Given the description of an element on the screen output the (x, y) to click on. 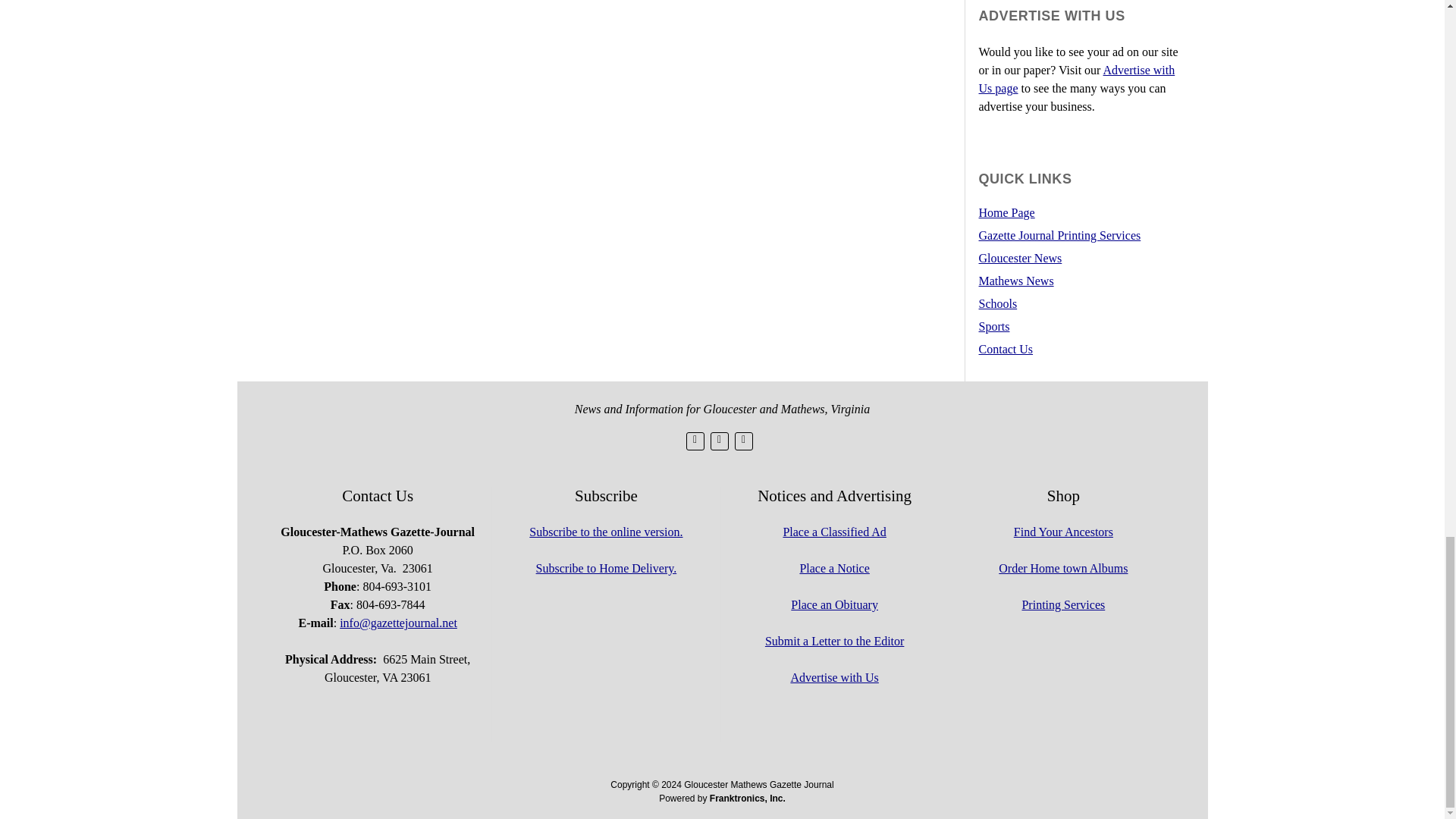
instagram (743, 439)
instagram (742, 441)
twitter (694, 441)
twitter (695, 439)
facebook (719, 441)
